Given the description of an element on the screen output the (x, y) to click on. 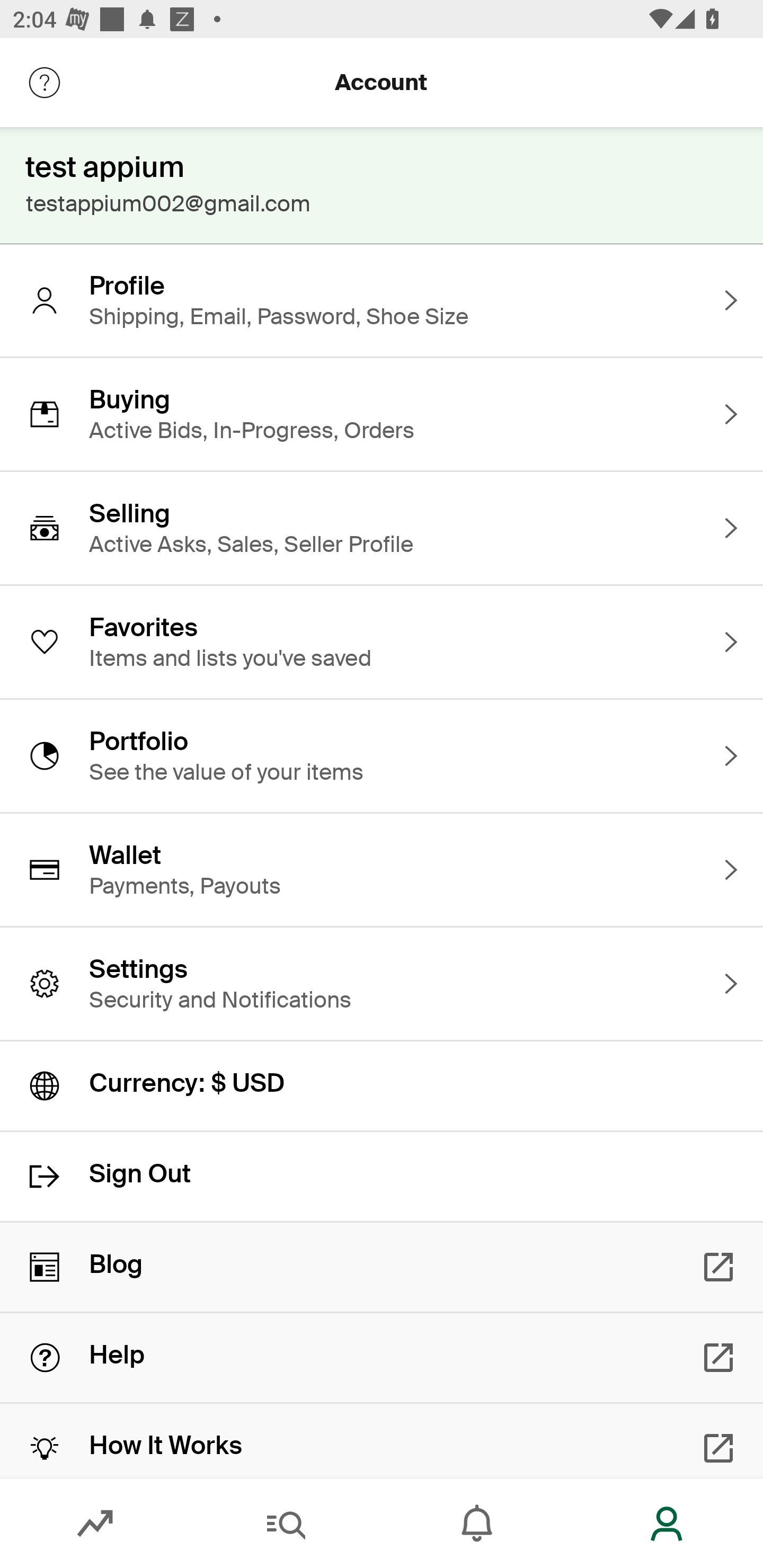
Profile Shipping, Email, Password, Shoe Size (381, 299)
Buying Active Bids, In-Progress, Orders (381, 413)
Selling Active Asks, Sales, Seller Profile (381, 527)
Favorites Items and lists you've saved (381, 641)
Portfolio See the value of your items (381, 755)
Wallet Payments, Payouts (381, 869)
Settings Security and Notifications (381, 983)
Currency: $ USD (381, 1085)
Sign Out (381, 1176)
Blog (381, 1266)
Help (381, 1357)
How It Works (381, 1440)
Market (95, 1523)
Search (285, 1523)
Inbox (476, 1523)
